Given the description of an element on the screen output the (x, y) to click on. 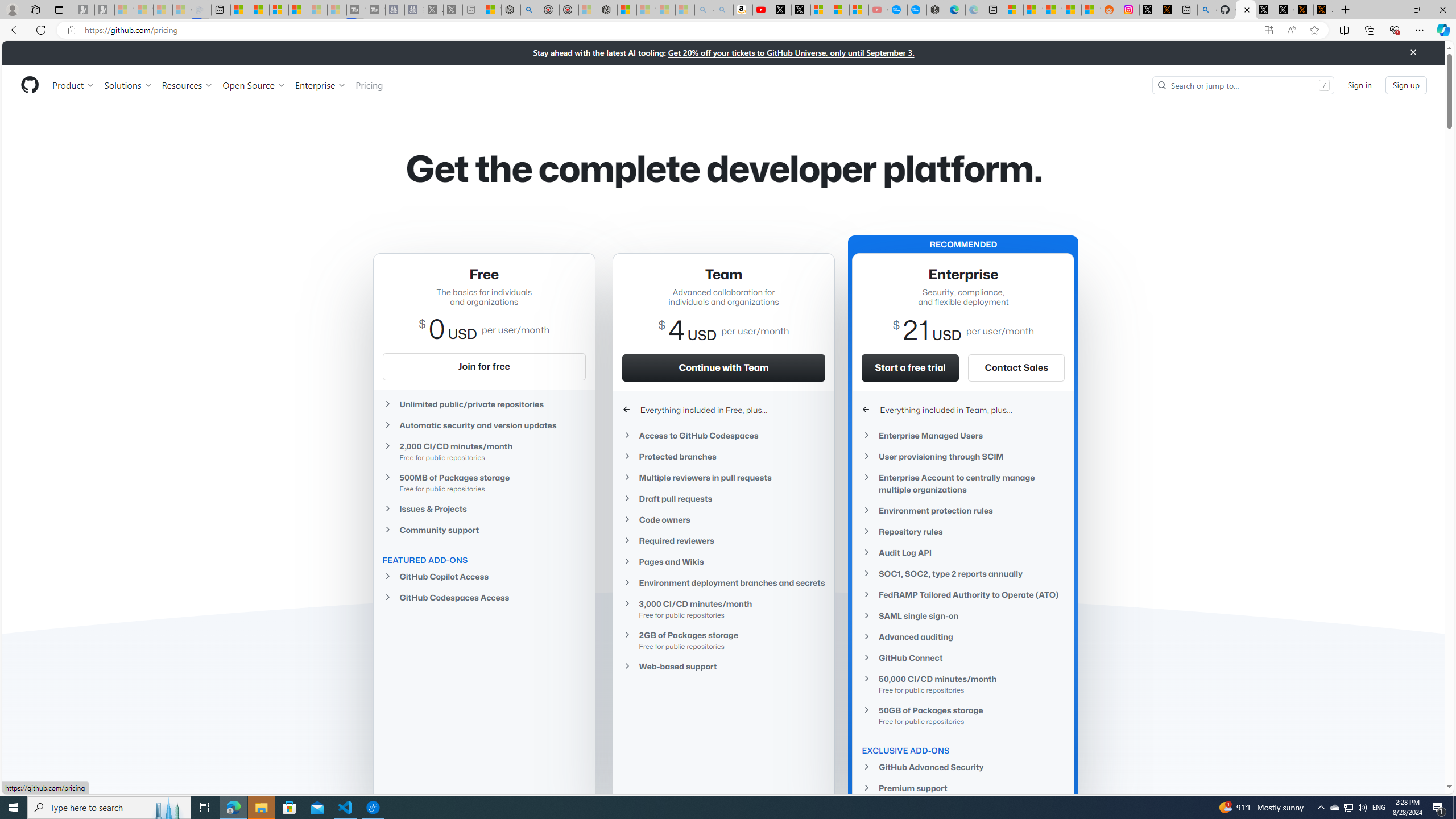
3,000 CI/CD minutes/monthFree for public repositories (723, 608)
50,000 CI/CD minutes/monthFree for public repositories (963, 683)
Multiple reviewers in pull requests (723, 477)
Open Source (254, 84)
500MB of Packages storage Free for public repositories (483, 482)
Community support (483, 529)
Issues & Projects (483, 508)
Streaming Coverage | T3 - Sleeping (356, 9)
Profile / X (1264, 9)
Issues & Projects (483, 508)
App available. Install GitHub (1268, 29)
SAML single sign-on (963, 615)
